Given the description of an element on the screen output the (x, y) to click on. 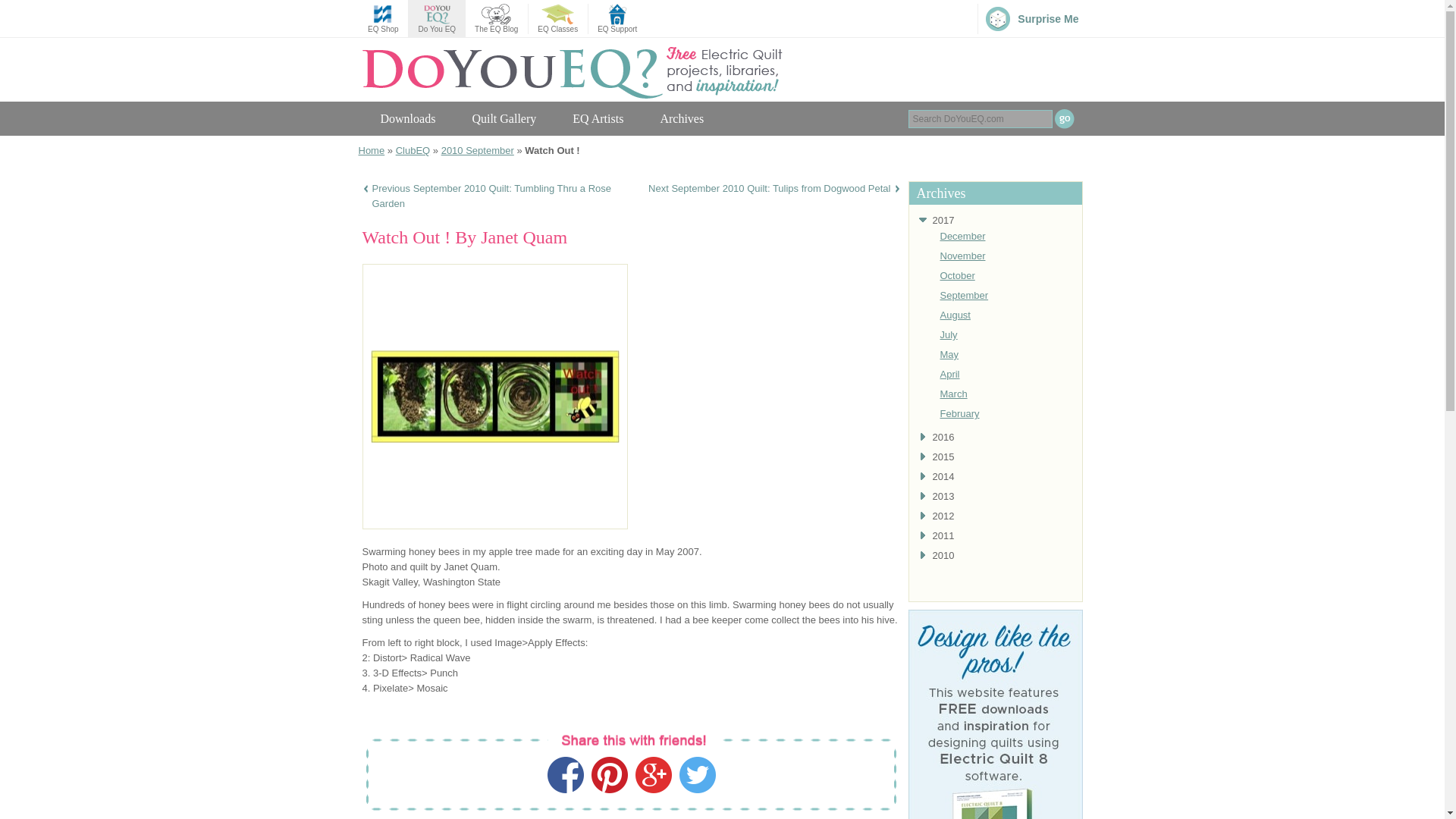
Surprise Me (1032, 19)
EQ Artists (598, 118)
EQ Classes (557, 19)
Search (1064, 118)
EQ Support (617, 19)
Search for: (980, 118)
EQ Shop (382, 19)
Search (1064, 118)
Archives (682, 118)
The EQ Blog (496, 19)
